Given the description of an element on the screen output the (x, y) to click on. 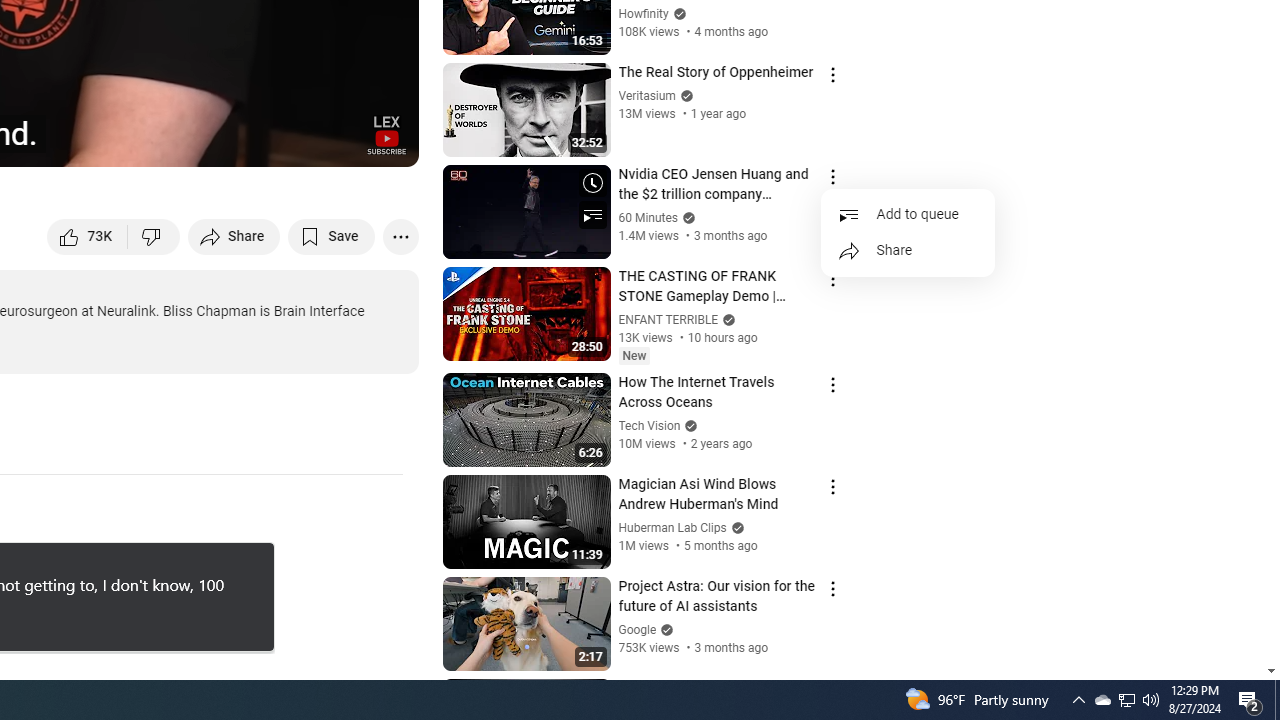
Share (907, 251)
Share (234, 236)
Save to playlist (331, 236)
Dislike this video (154, 236)
Autoplay is on (141, 142)
Theater mode (t) (333, 142)
Miniplayer (i) (286, 142)
